Given the description of an element on the screen output the (x, y) to click on. 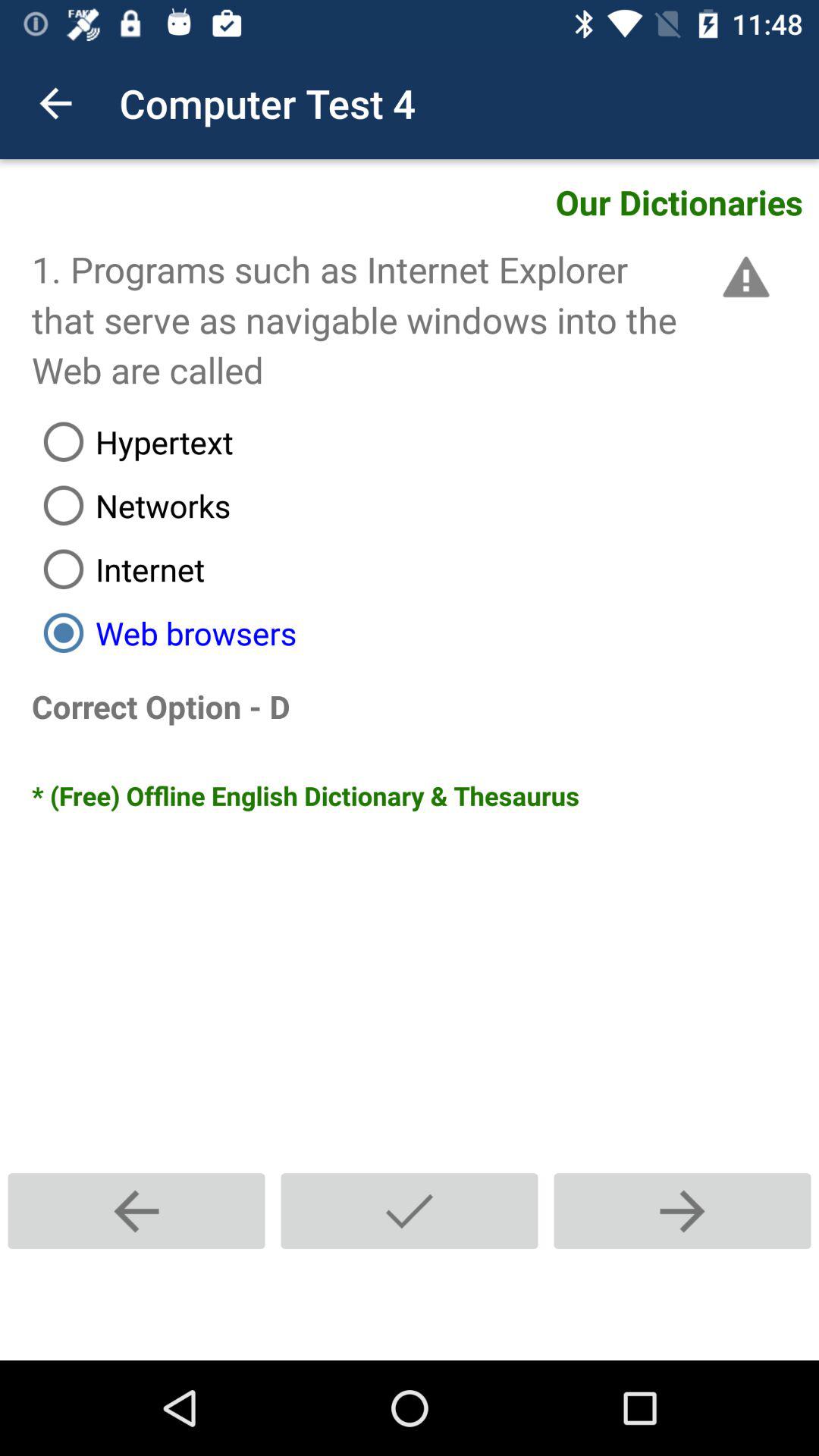
turn off item to the left of computer test 4 item (55, 103)
